Given the description of an element on the screen output the (x, y) to click on. 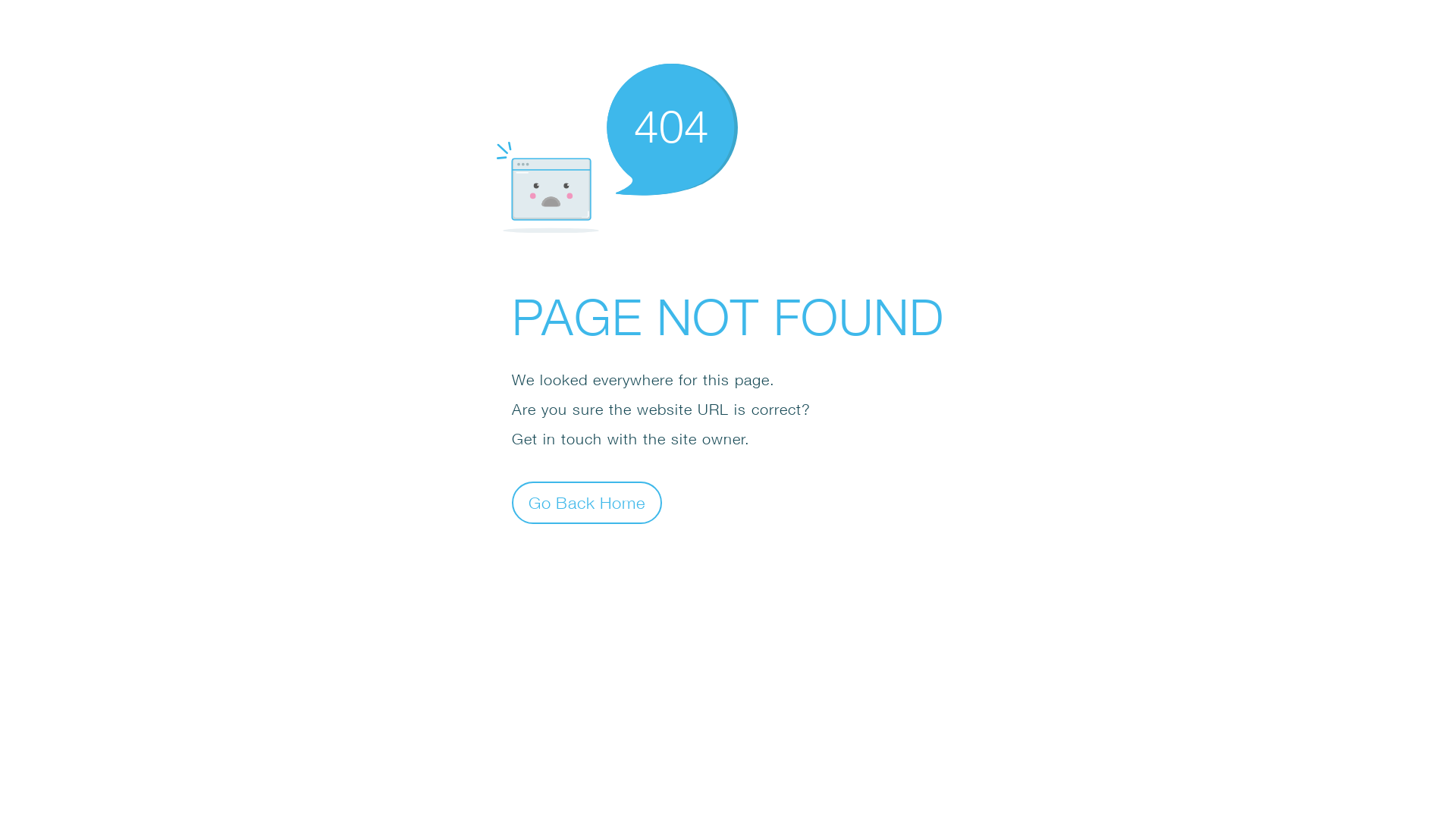
Go Back Home Element type: text (586, 502)
